Given the description of an element on the screen output the (x, y) to click on. 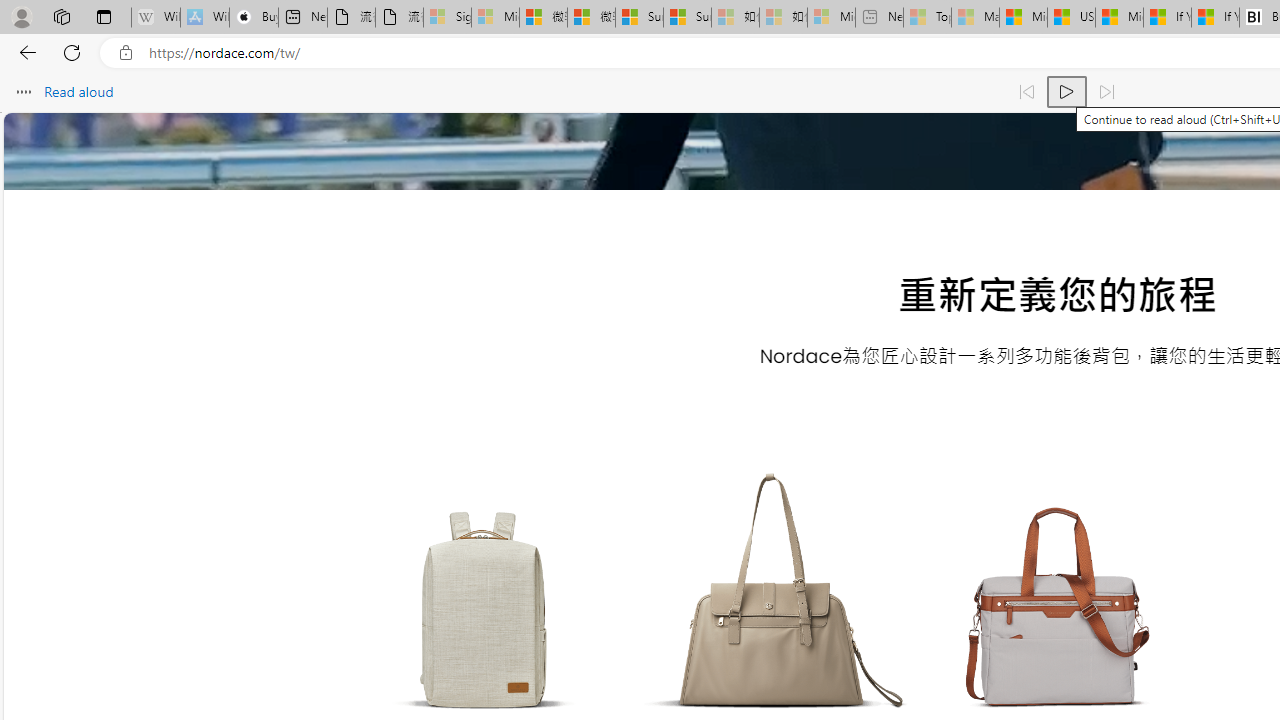
Buy iPad - Apple (253, 17)
Marine life - MSN - Sleeping (975, 17)
Read previous paragraph (1026, 92)
Microsoft account | Account Checkup - Sleeping (831, 17)
Top Stories - MSN - Sleeping (927, 17)
Microsoft Services Agreement - Sleeping (495, 17)
